Given the description of an element on the screen output the (x, y) to click on. 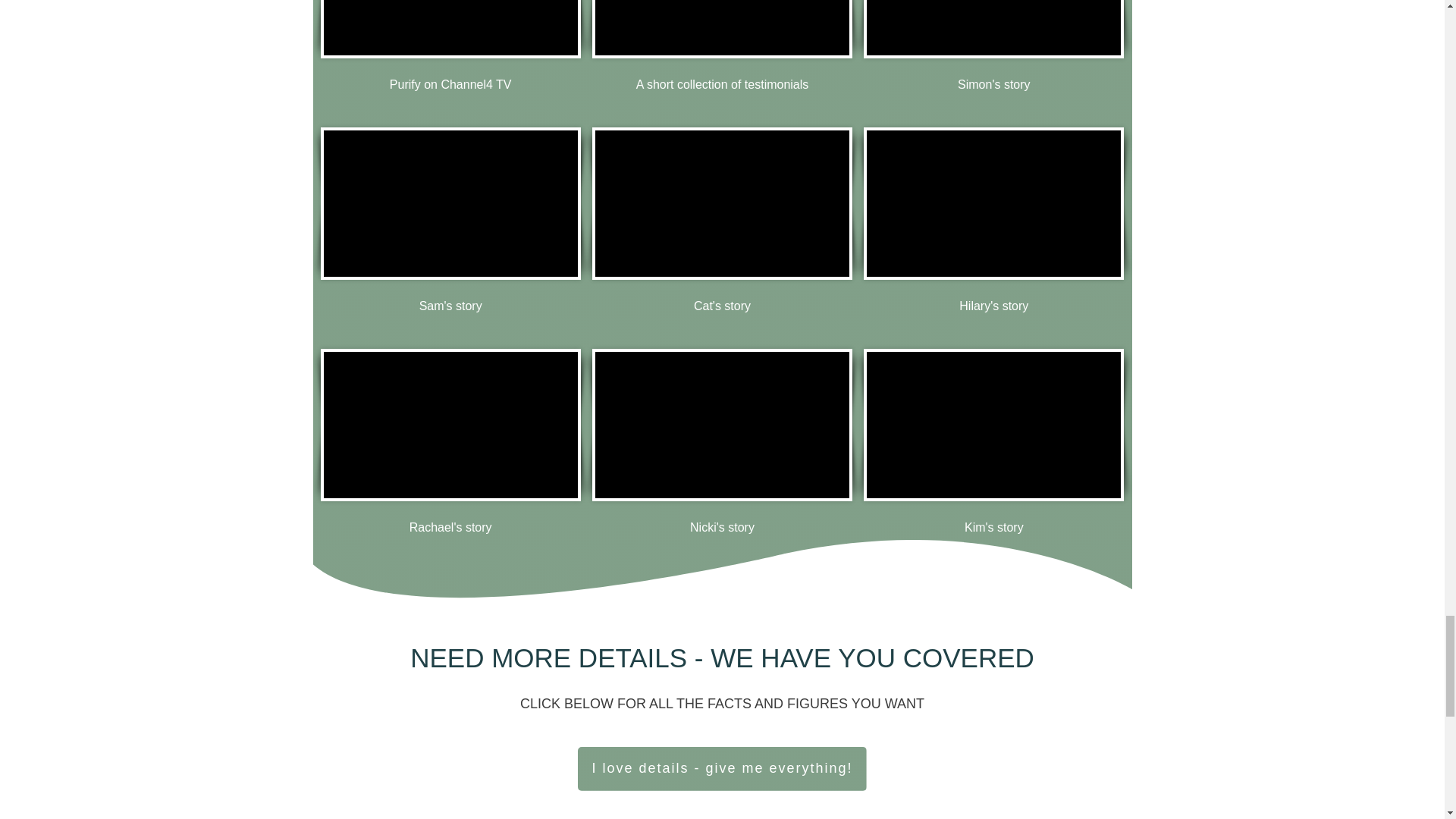
Responsive Video (721, 203)
Responsive Video (721, 424)
I love details - give me everything! (722, 768)
Responsive Video (721, 27)
Responsive Video (449, 27)
Responsive Video (449, 203)
Responsive Video (449, 424)
